Given the description of an element on the screen output the (x, y) to click on. 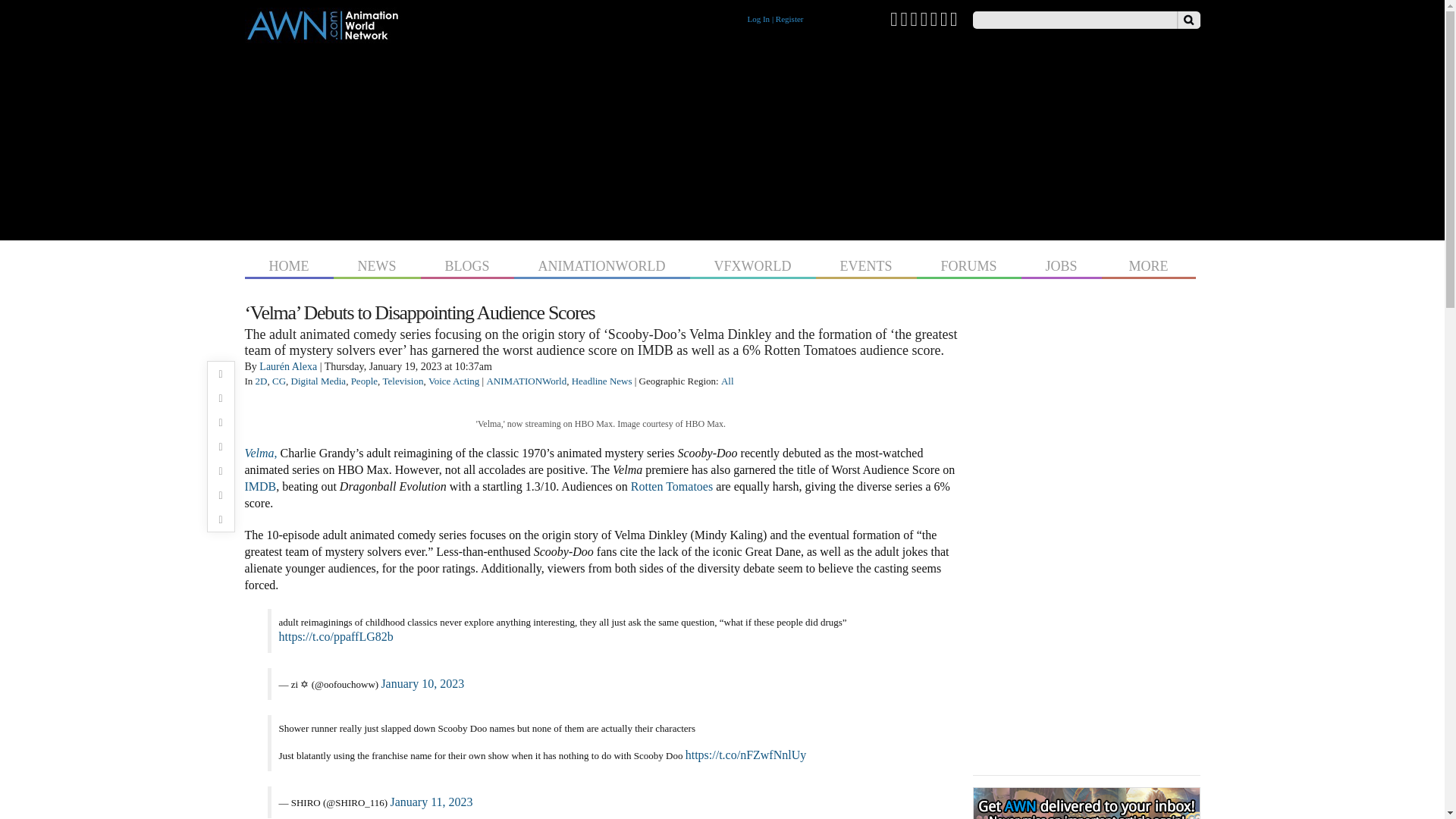
Digital Media (318, 380)
Search (1187, 19)
Voice Acting (453, 380)
Register (789, 18)
3rd party ad content (722, 137)
Skip to main content (693, 1)
People (363, 380)
Search (1187, 19)
MORE (1148, 263)
2D (261, 380)
Animation World Network (321, 35)
CG (278, 380)
NEWS (376, 263)
BLOGS (466, 263)
Enter the terms you wish to search for. (1074, 19)
